Given the description of an element on the screen output the (x, y) to click on. 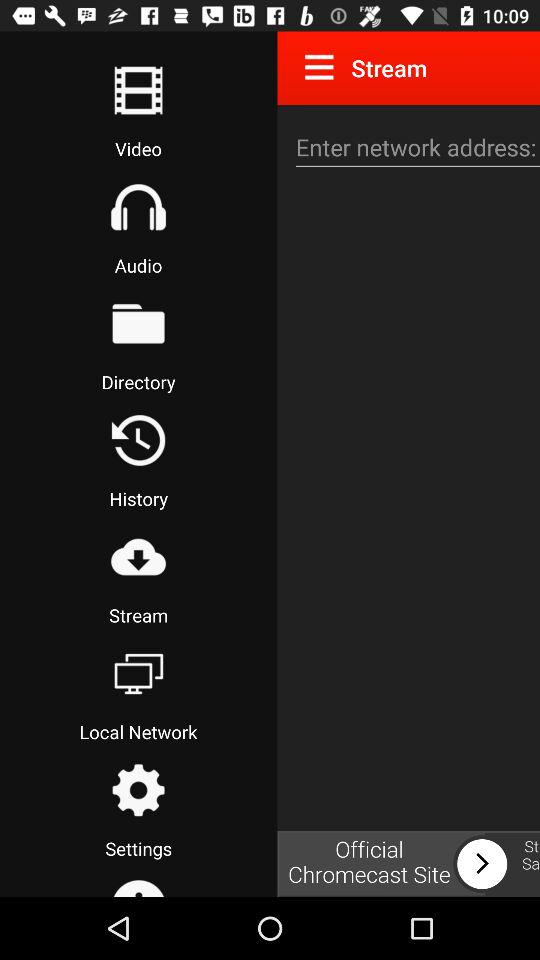
history button (138, 440)
